Given the description of an element on the screen output the (x, y) to click on. 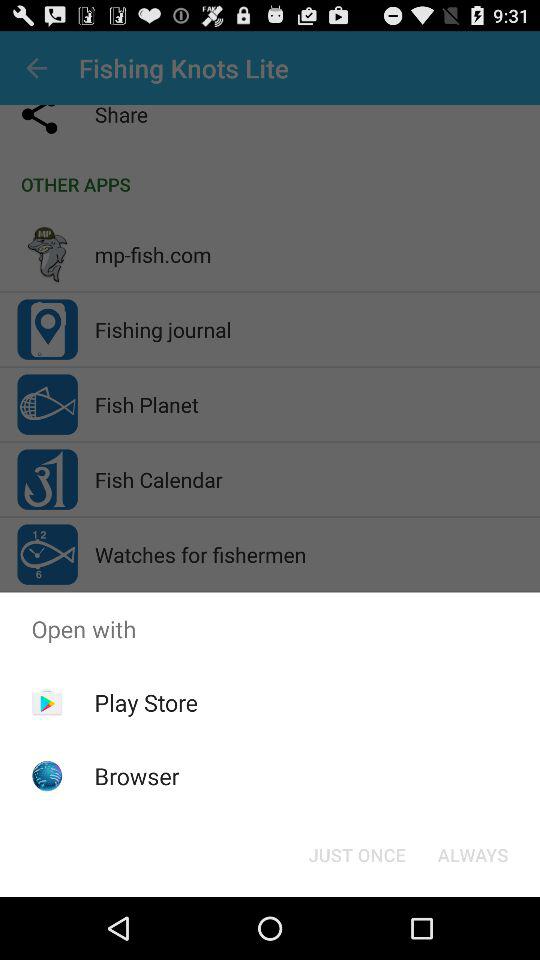
swipe until browser item (136, 775)
